Given the description of an element on the screen output the (x, y) to click on. 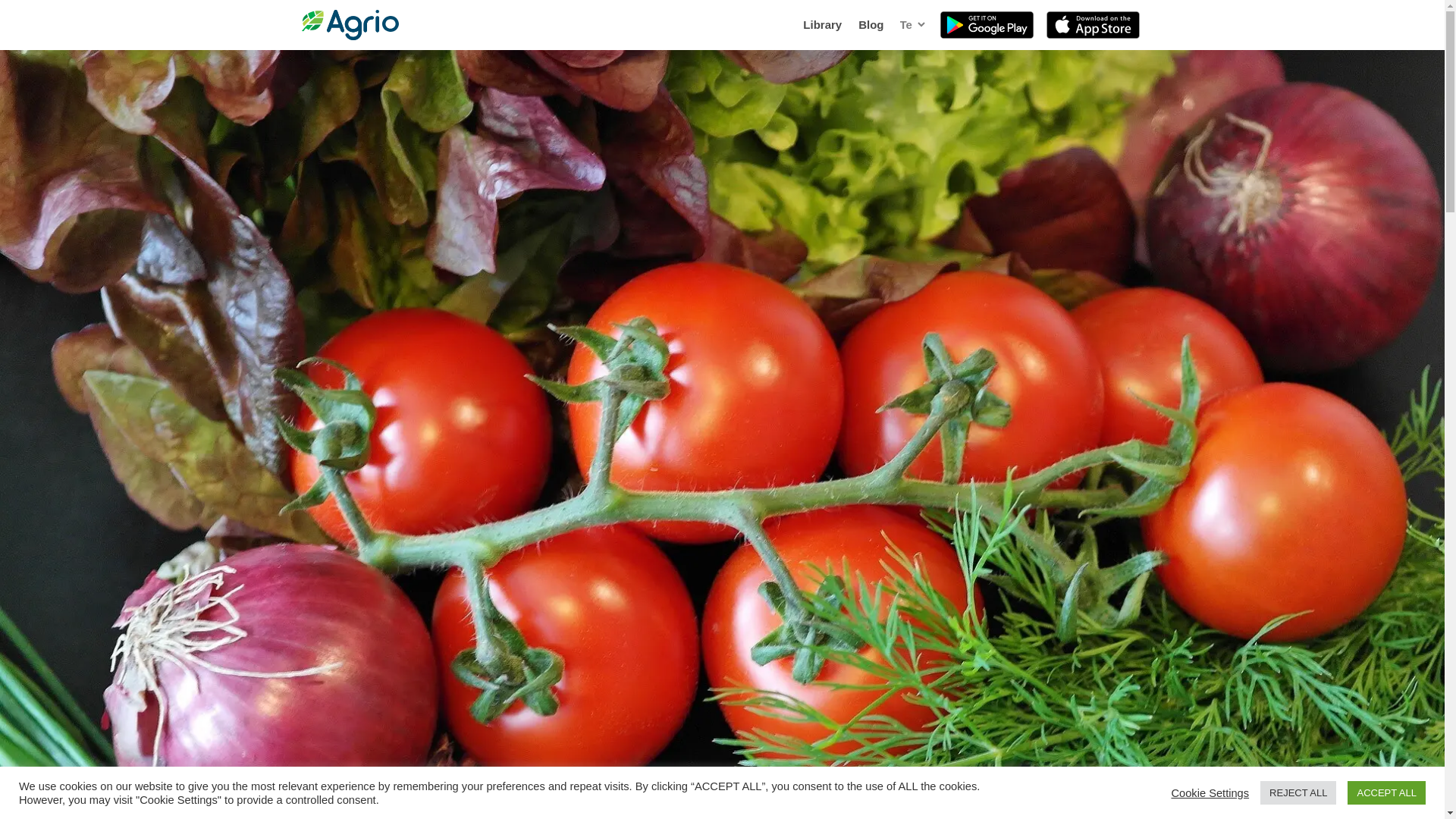
REJECT ALL (1298, 792)
Blog (870, 24)
Cookie Settings (1209, 792)
Library (822, 24)
ACCEPT ALL (1386, 792)
